Given the description of an element on the screen output the (x, y) to click on. 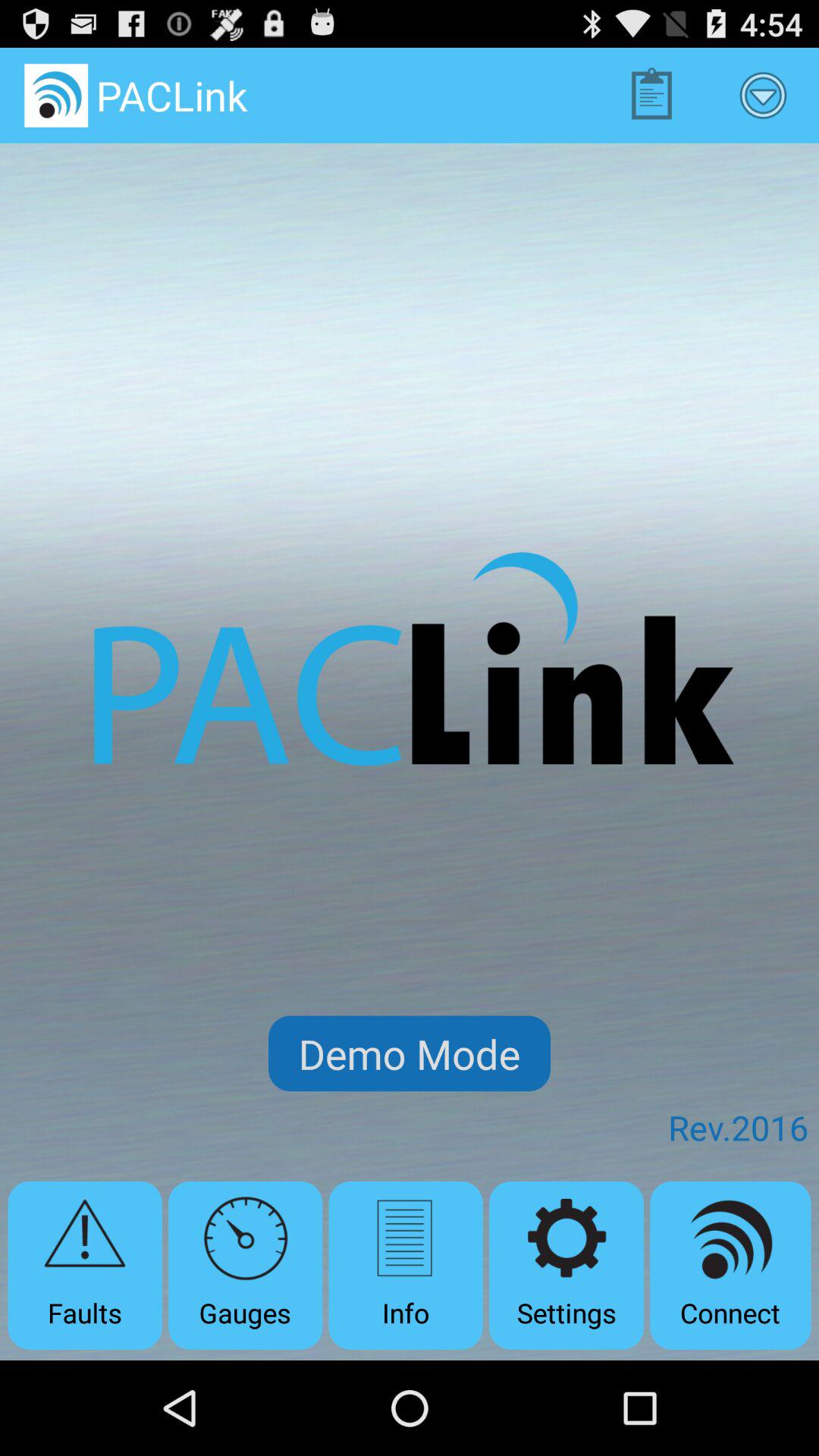
choose the app below the rev.2016 app (730, 1265)
